Given the description of an element on the screen output the (x, y) to click on. 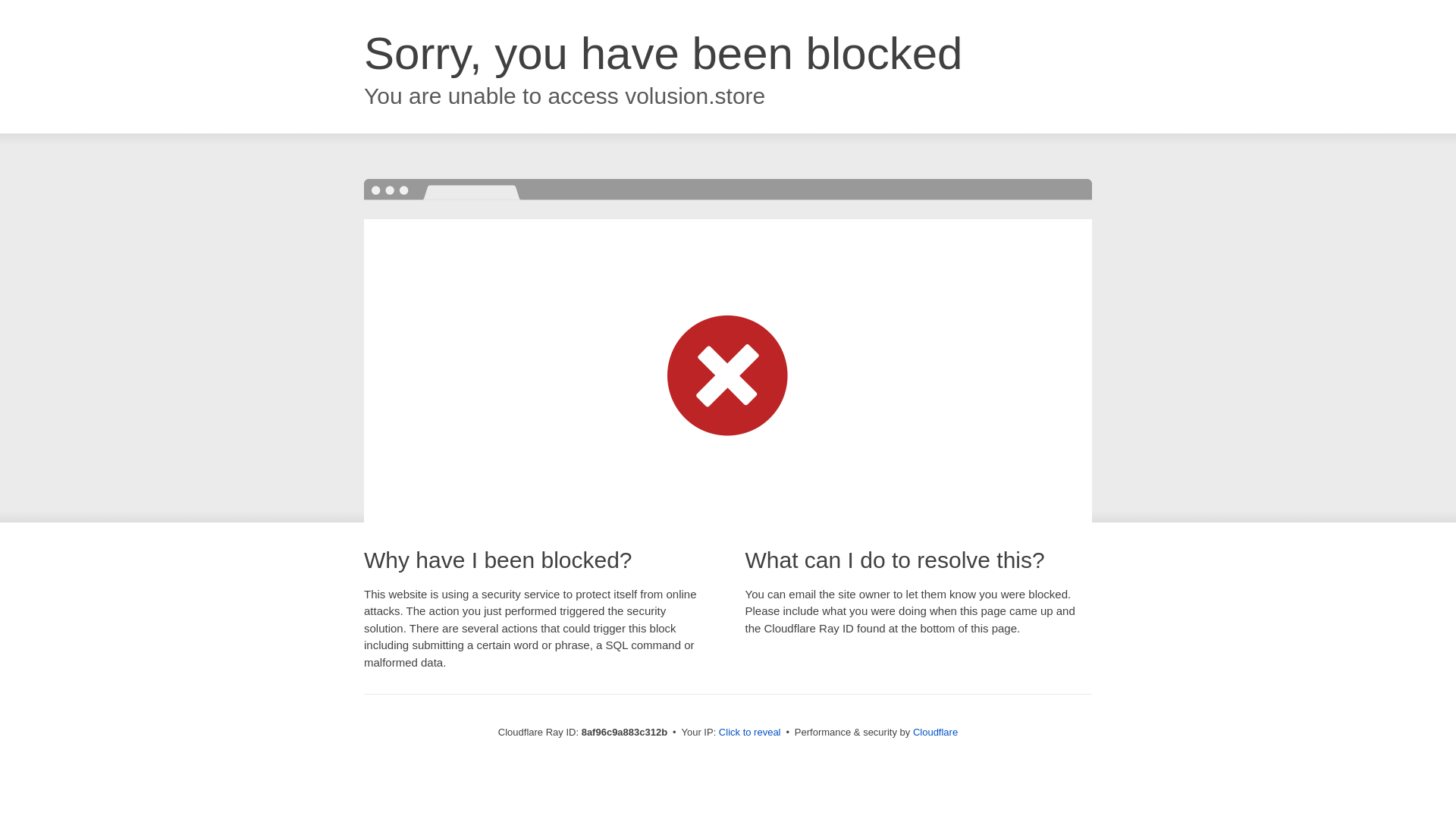
Cloudflare (935, 731)
Click to reveal (749, 732)
